Given the description of an element on the screen output the (x, y) to click on. 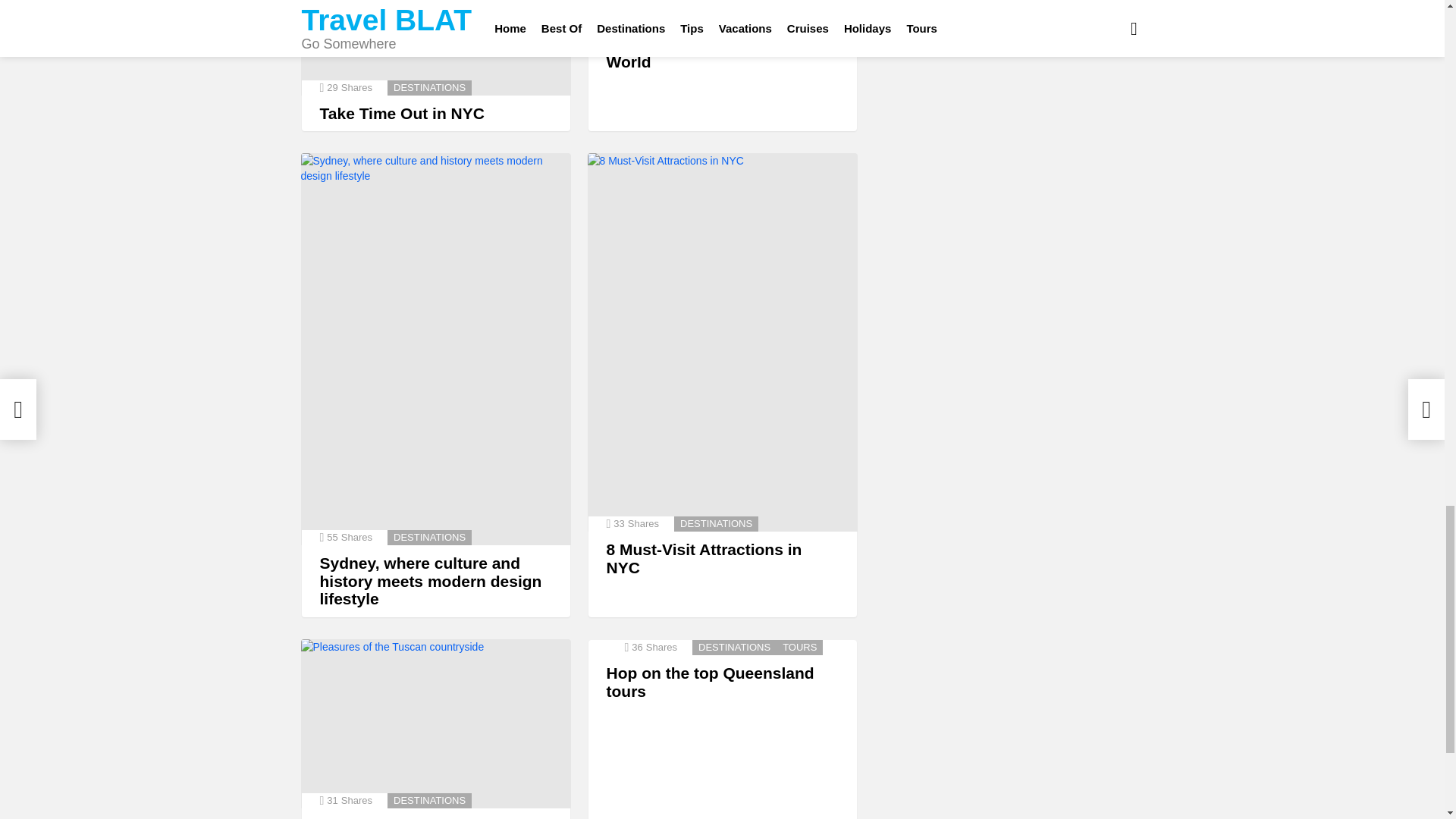
DESTINATIONS (429, 87)
Pleasures of the Tuscan countryside (434, 723)
Take Time Out in NYC (402, 113)
BEST OF (701, 17)
Famous Fountains In The World (703, 52)
Take Time Out in NYC (434, 47)
DESTINATIONS (429, 537)
Famous Fountains In The World (721, 12)
